Given the description of an element on the screen output the (x, y) to click on. 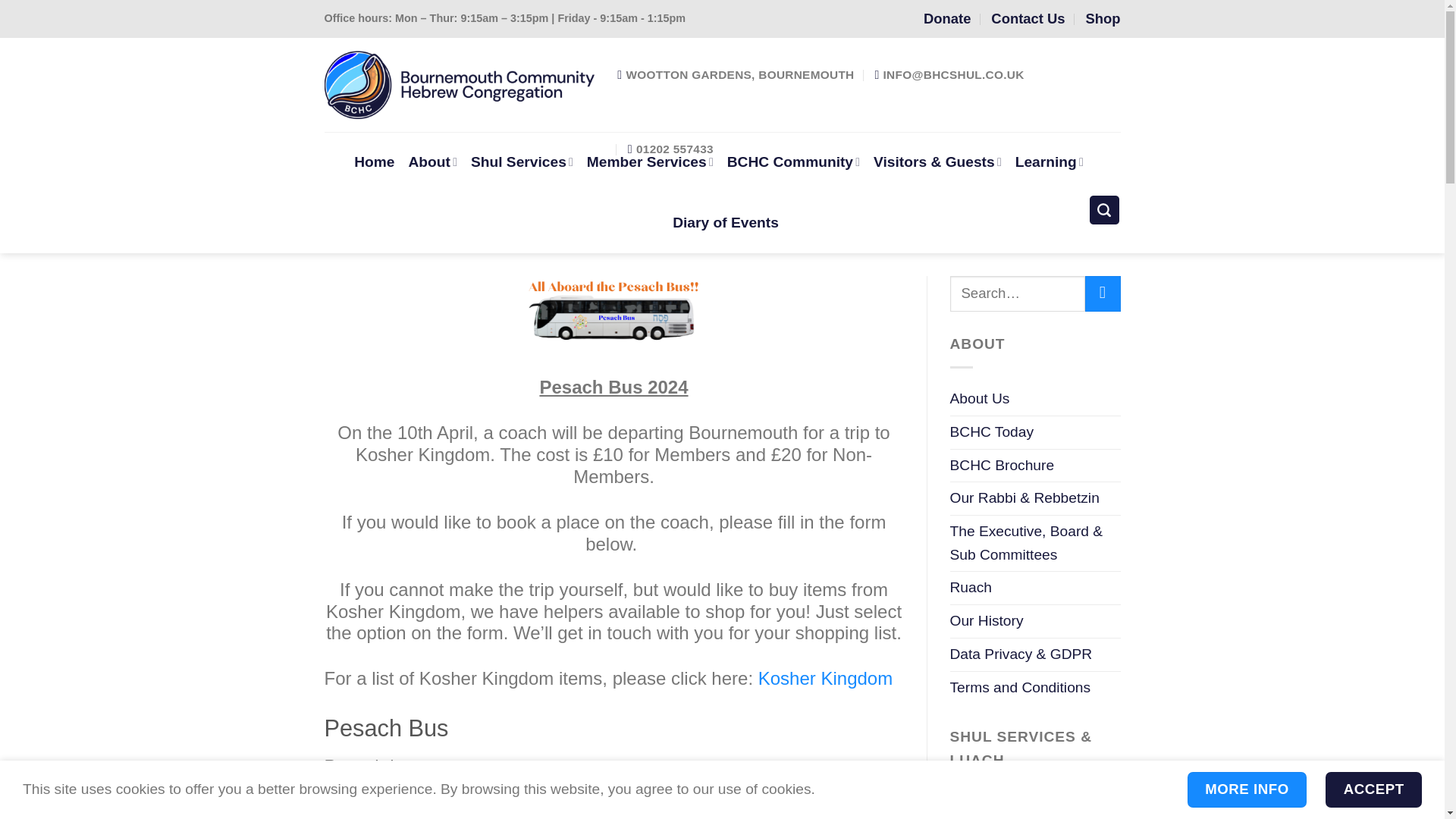
Member Services (649, 161)
Donate (947, 18)
Shop (1101, 18)
01202 557433 (670, 149)
Contact Us (1027, 18)
WOOTTON GARDENS, BOURNEMOUTH (735, 74)
Shul Services (521, 161)
01202 557433 (670, 149)
Synagogue Chambers Wootton Gardens Bournemouth BH1 1PW (735, 74)
